Given the description of an element on the screen output the (x, y) to click on. 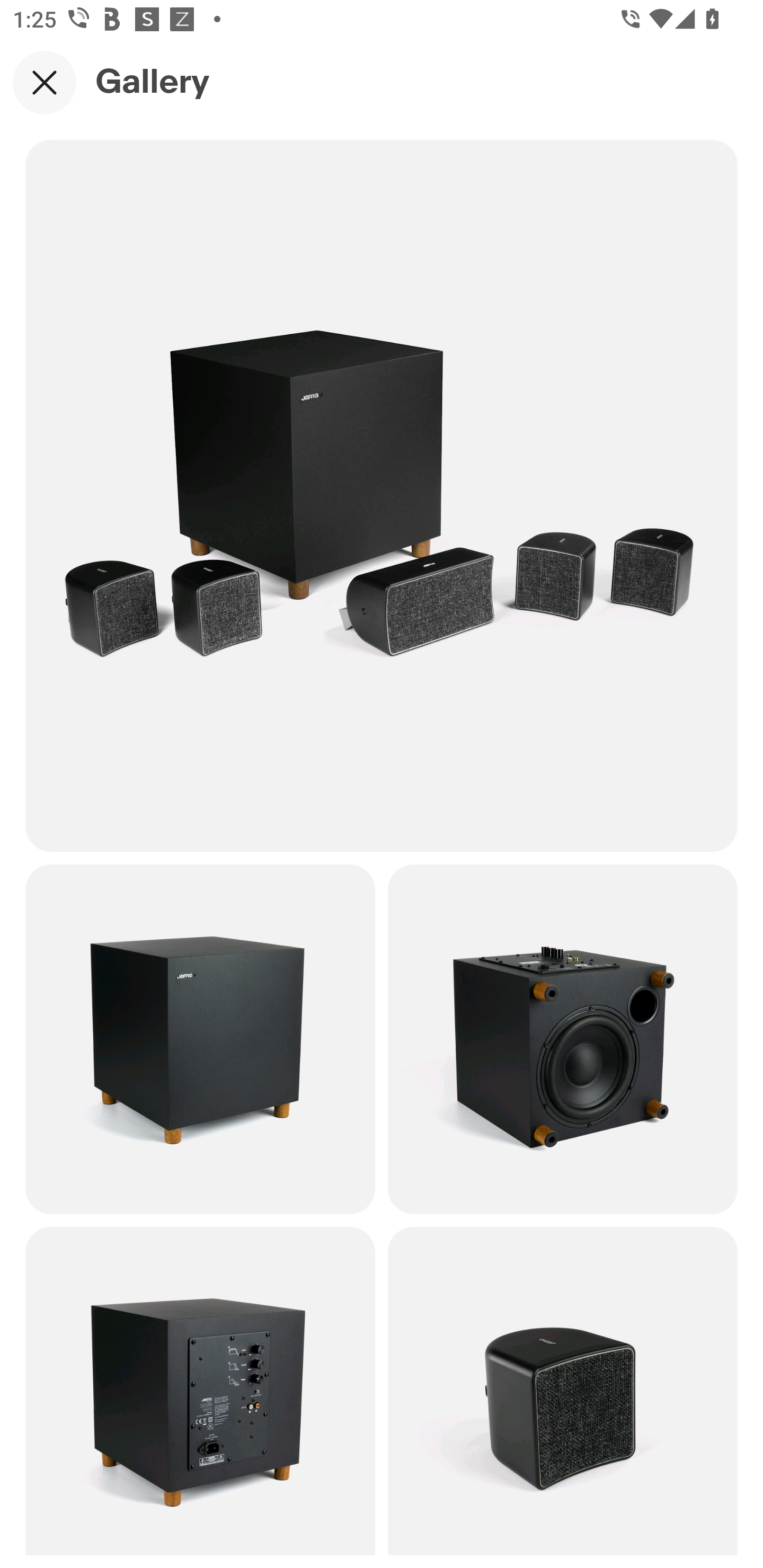
Close (44, 82)
Item image 1 of 13 (381, 495)
Item image 2 of 13 (200, 1038)
Item image 3 of 13 (562, 1038)
Item image 4 of 13 (200, 1390)
Item image 5 of 13 (562, 1390)
